Given the description of an element on the screen output the (x, y) to click on. 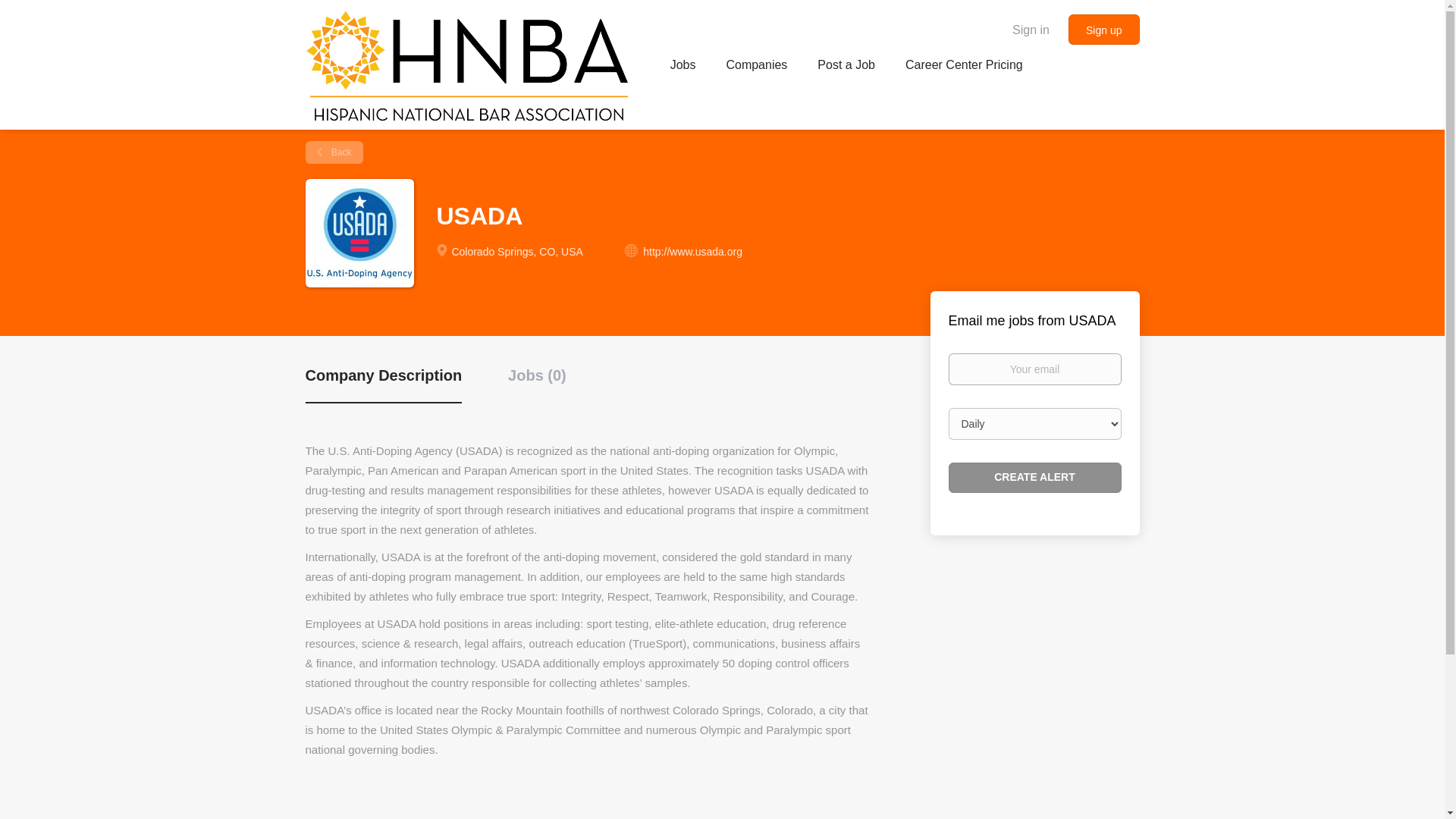
Post a Job (845, 66)
Companies (756, 66)
Jobs (682, 66)
Back (333, 151)
Sign up (1103, 29)
Career Center Pricing (964, 66)
Create alert (1034, 477)
Sign in (1031, 28)
Create alert (1034, 477)
Company Description (382, 383)
